Given the description of an element on the screen output the (x, y) to click on. 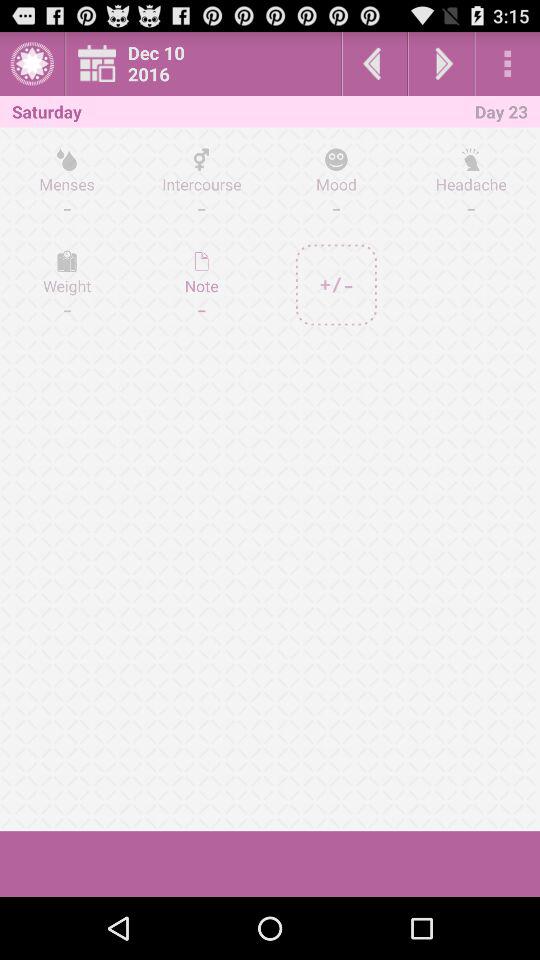
turn on item next to the note
_ item (335, 284)
